Given the description of an element on the screen output the (x, y) to click on. 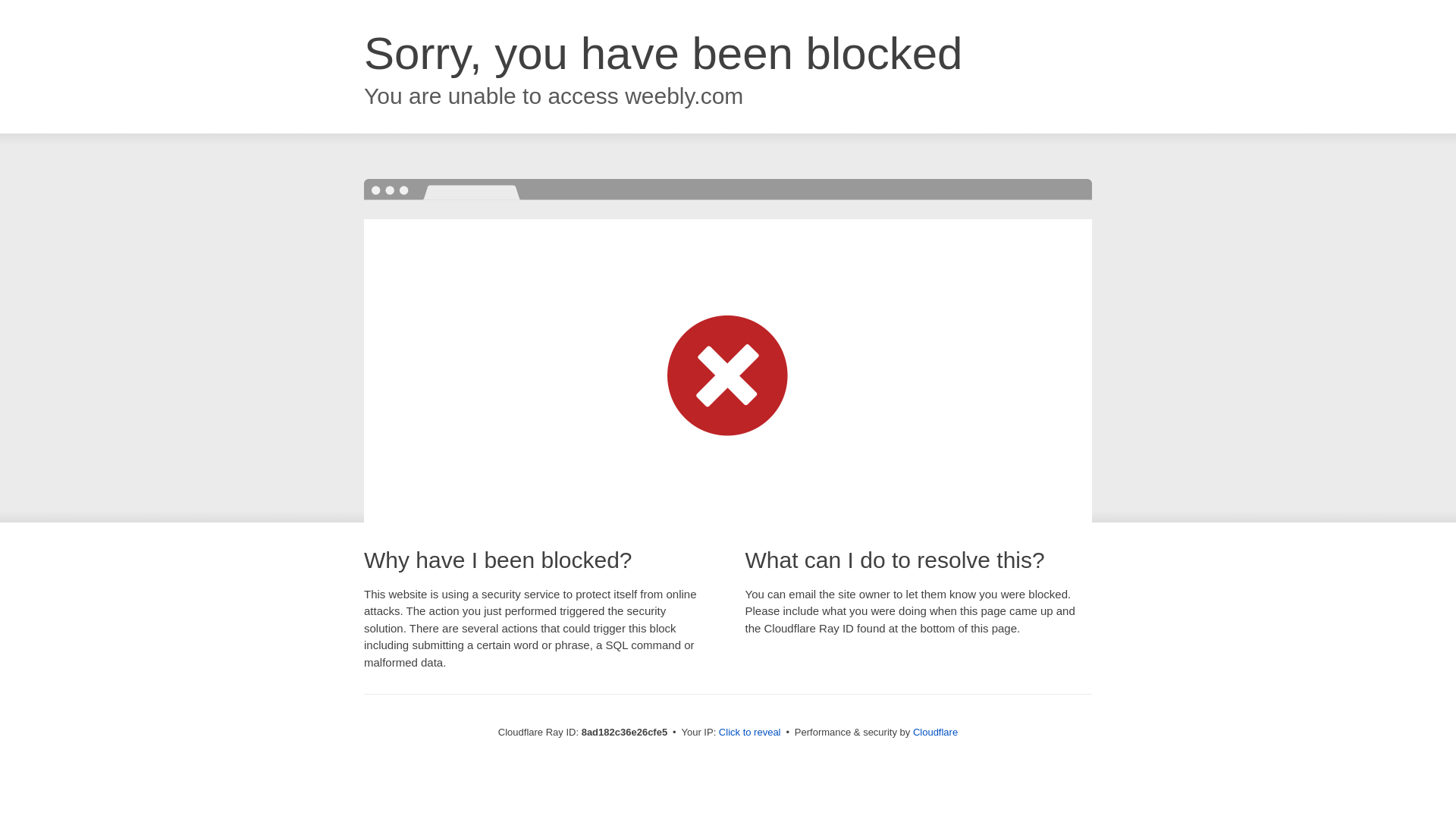
Cloudflare (935, 731)
Click to reveal (749, 732)
